Given the description of an element on the screen output the (x, y) to click on. 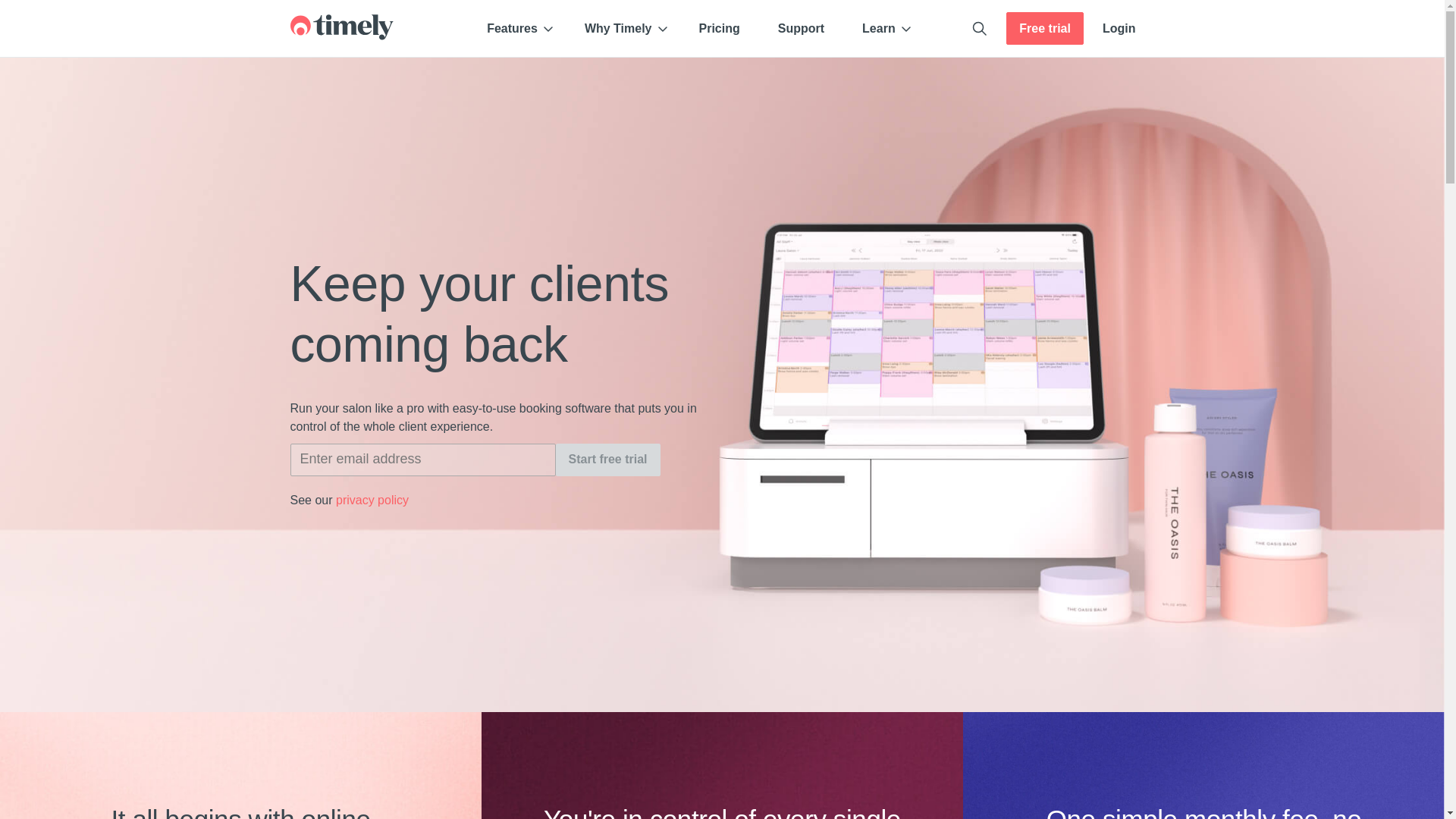
Pricing (718, 28)
Login (1118, 28)
Support (800, 28)
Learn (883, 28)
privacy policy (372, 499)
Start free trial (606, 459)
Features (516, 28)
Free trial (1044, 28)
Why Timely (622, 28)
